Given the description of an element on the screen output the (x, y) to click on. 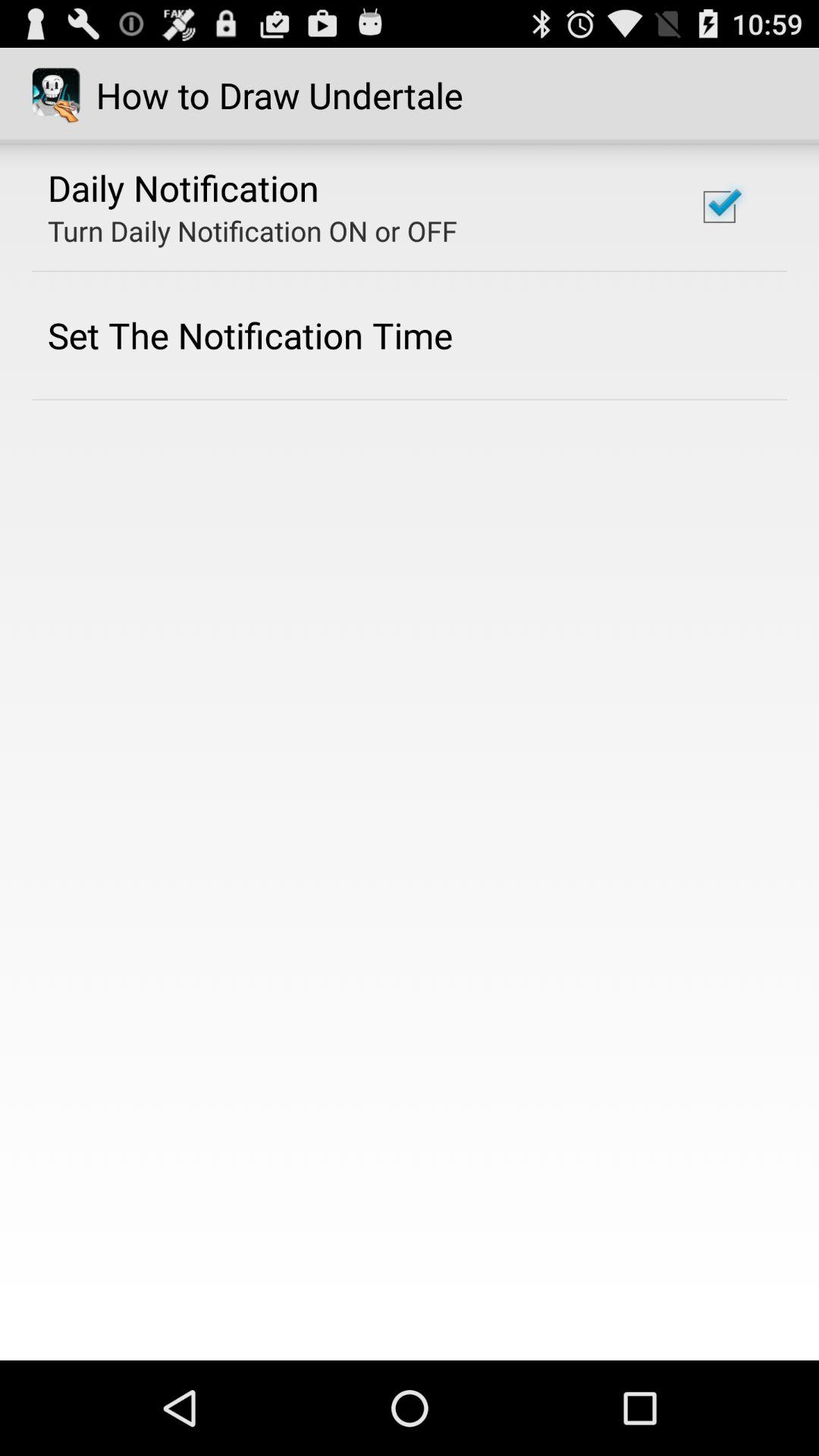
swipe to set the notification icon (249, 335)
